Given the description of an element on the screen output the (x, y) to click on. 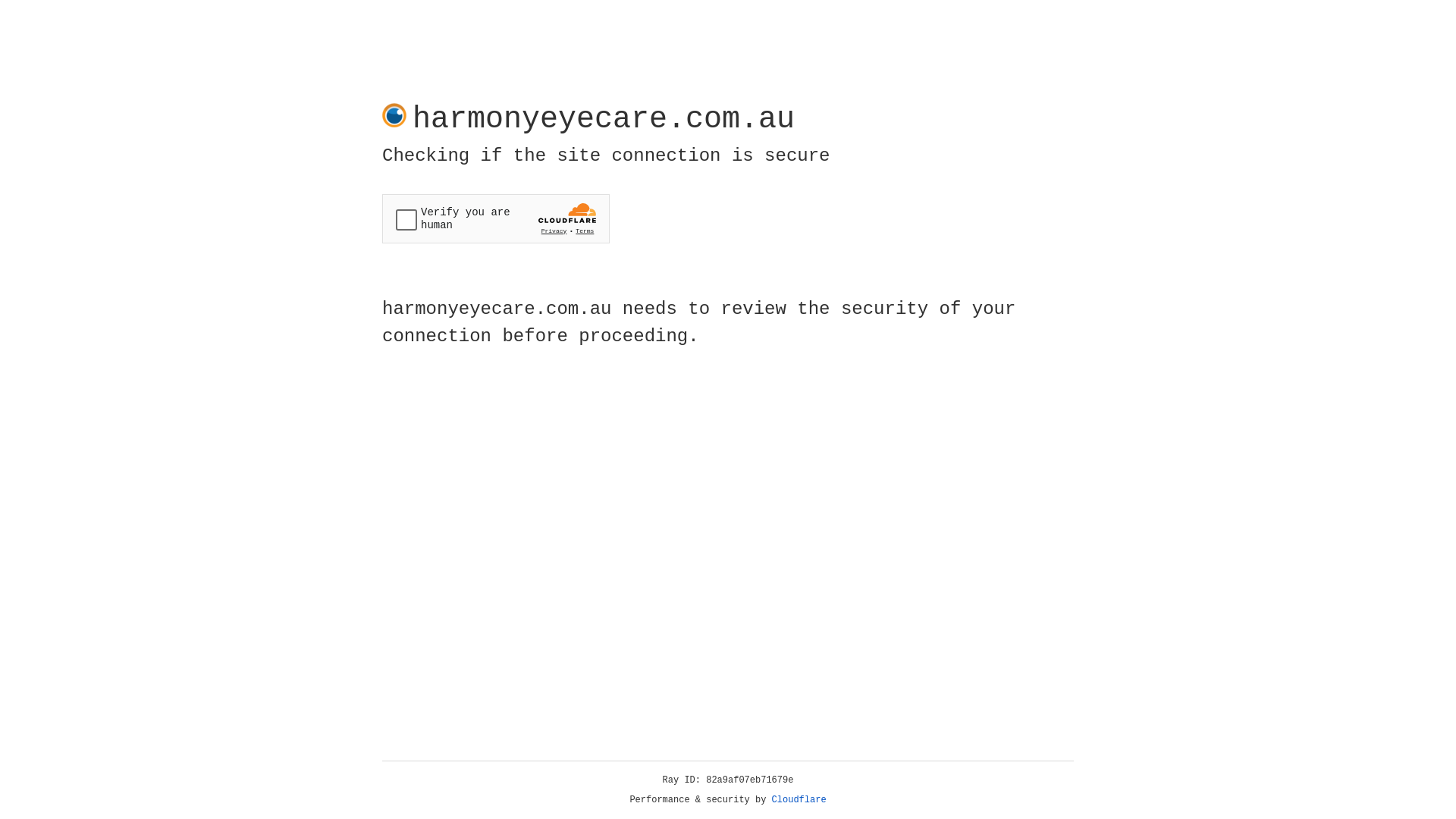
Cloudflare Element type: text (798, 799)
Widget containing a Cloudflare security challenge Element type: hover (495, 218)
